Given the description of an element on the screen output the (x, y) to click on. 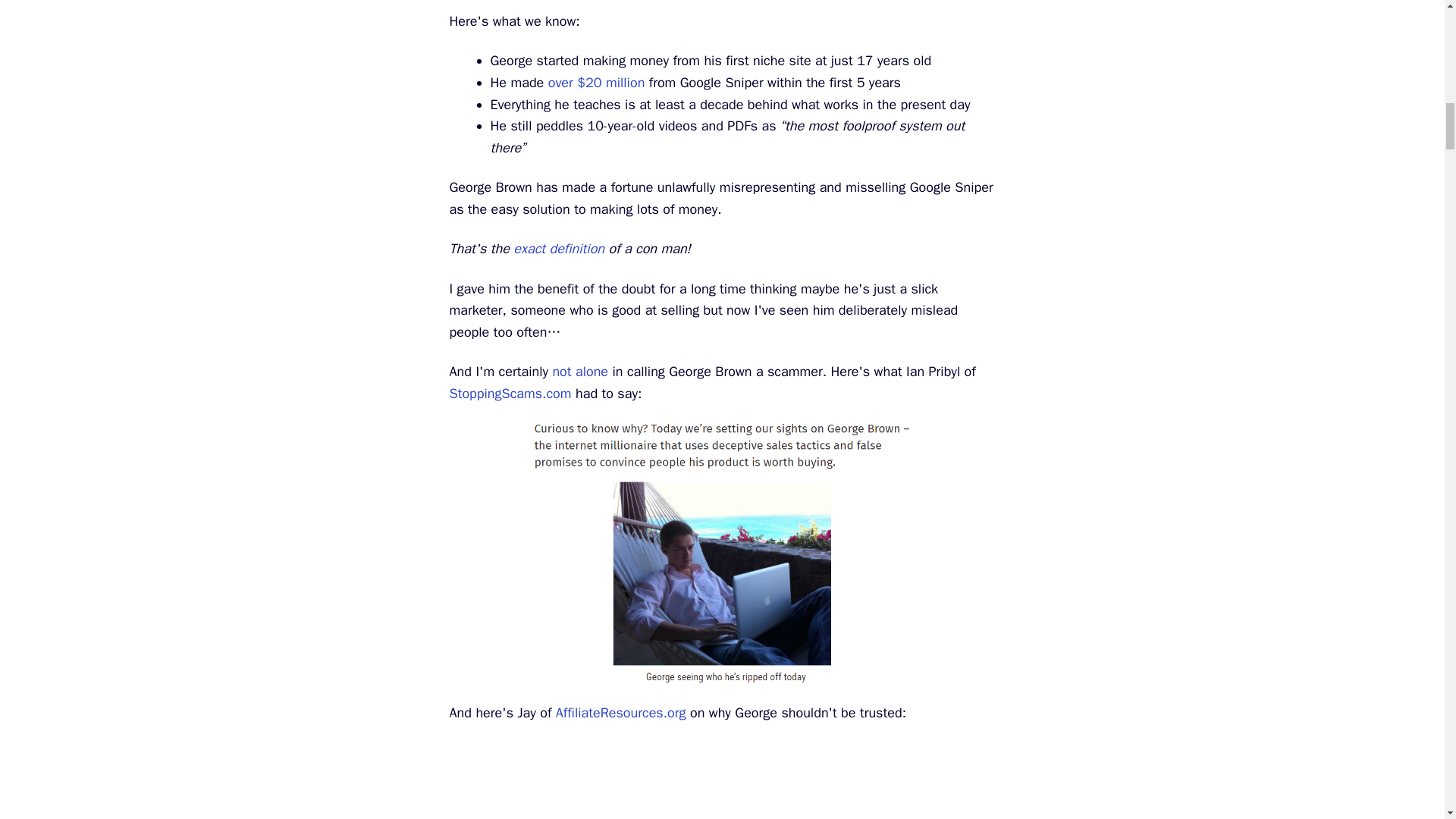
not alone (579, 371)
exact definition (558, 248)
StoppingScams.com (509, 393)
AffiliateResources.org (620, 712)
